Given the description of an element on the screen output the (x, y) to click on. 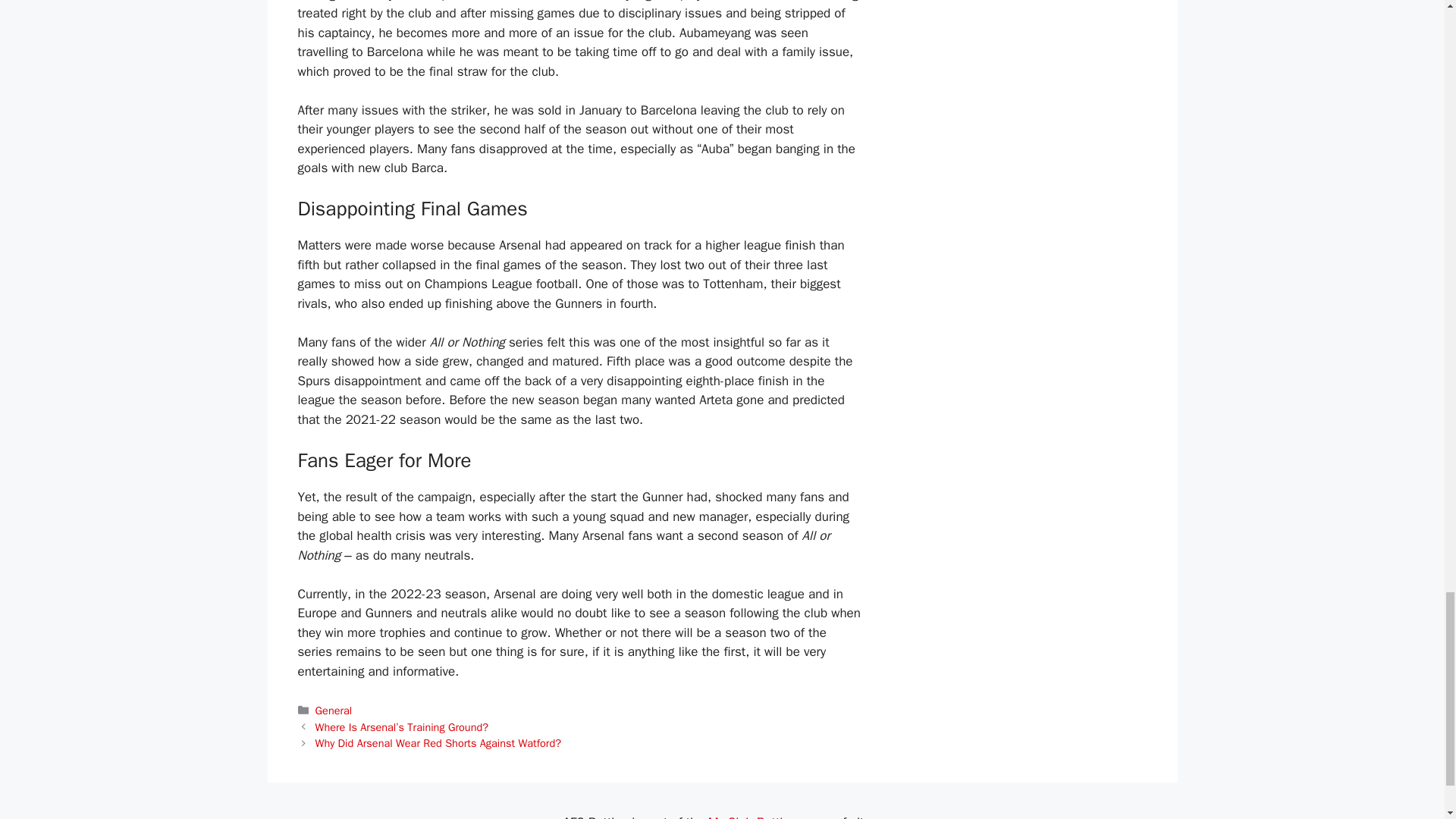
Why Did Arsenal Wear Red Shorts Against Watford? (437, 743)
Next (437, 743)
Previous (401, 726)
General (333, 710)
